Given the description of an element on the screen output the (x, y) to click on. 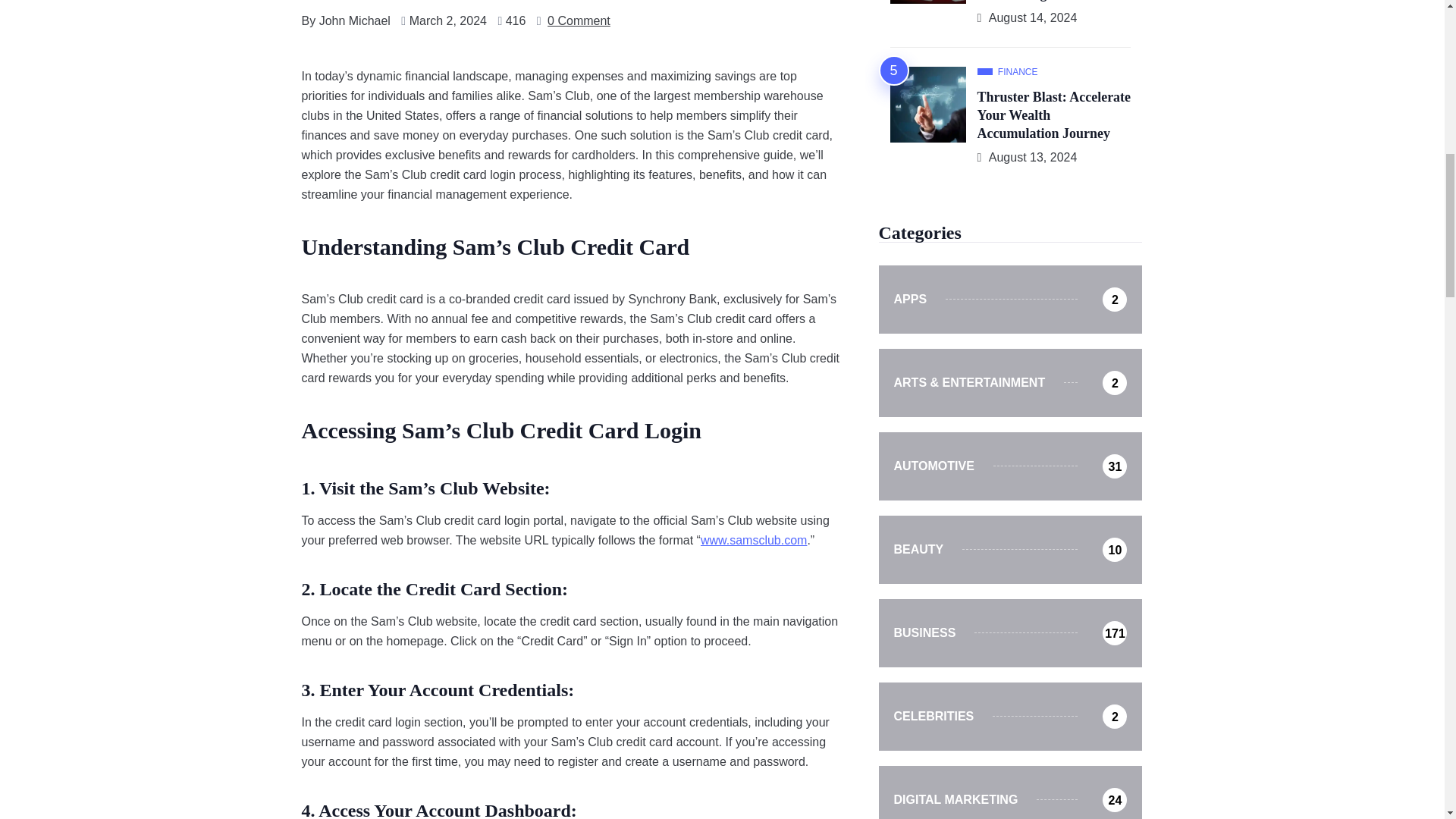
Thruster Blast: Accelerate Your Wealth Accumulation Journey (1053, 116)
0 Comment (578, 21)
John Michael (354, 21)
www.samsclub.com (753, 540)
